Given the description of an element on the screen output the (x, y) to click on. 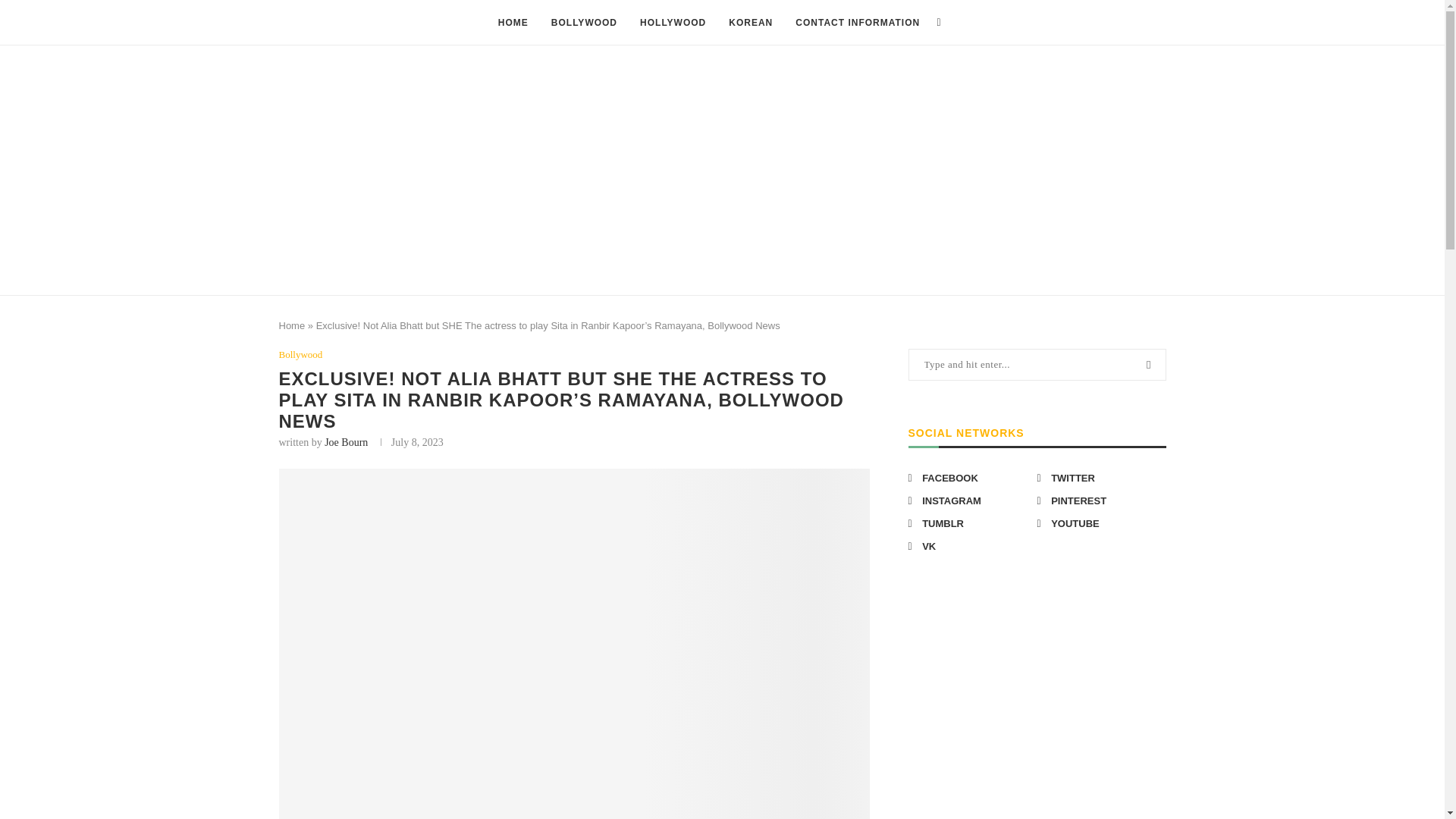
Bollywood (301, 354)
CONTACT INFORMATION (857, 22)
Joe Bourn (346, 441)
HOLLYWOOD (673, 22)
KOREAN (751, 22)
BOLLYWOOD (584, 22)
Home (292, 325)
